Given the description of an element on the screen output the (x, y) to click on. 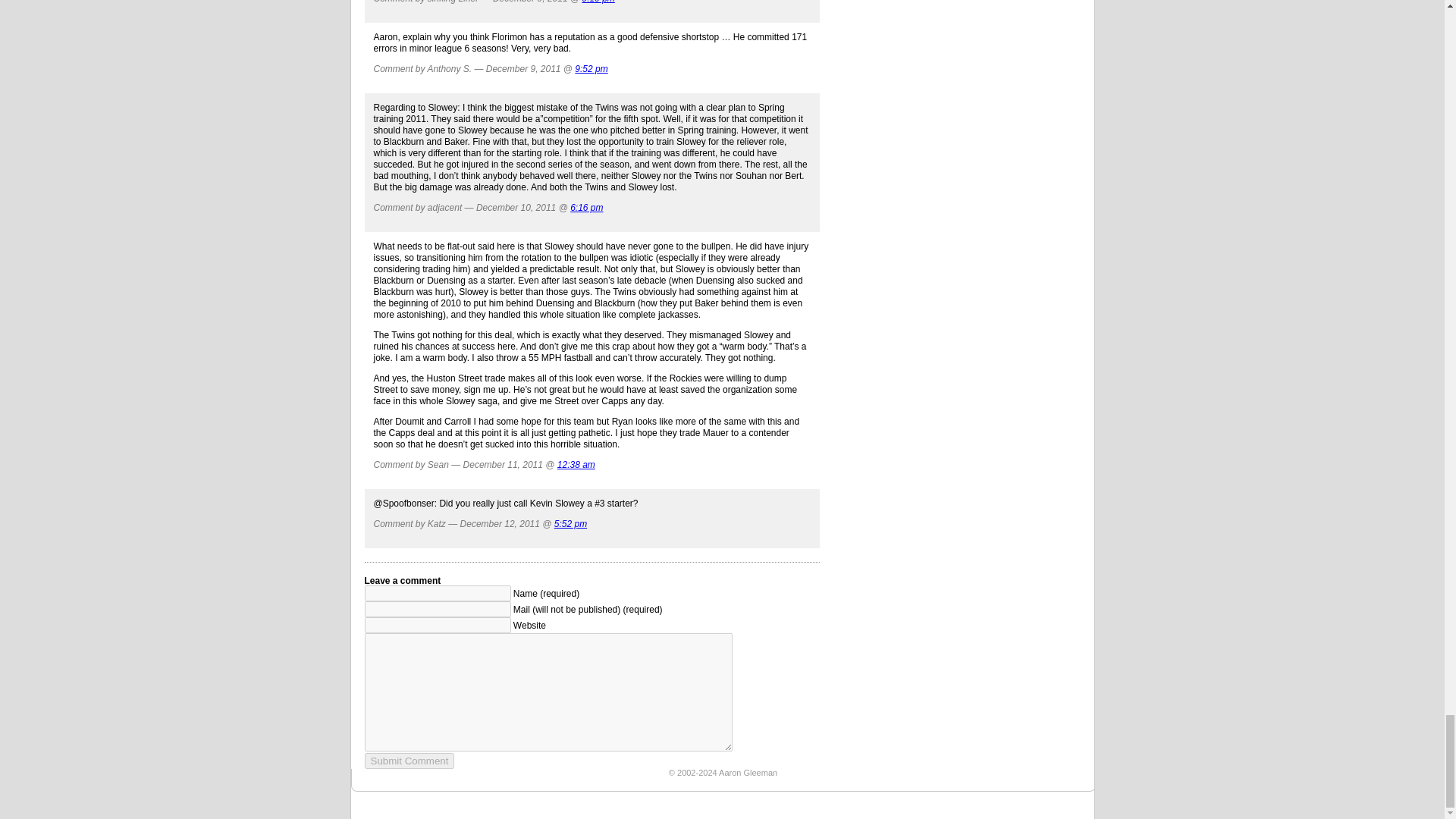
Submit Comment (409, 760)
